Given the description of an element on the screen output the (x, y) to click on. 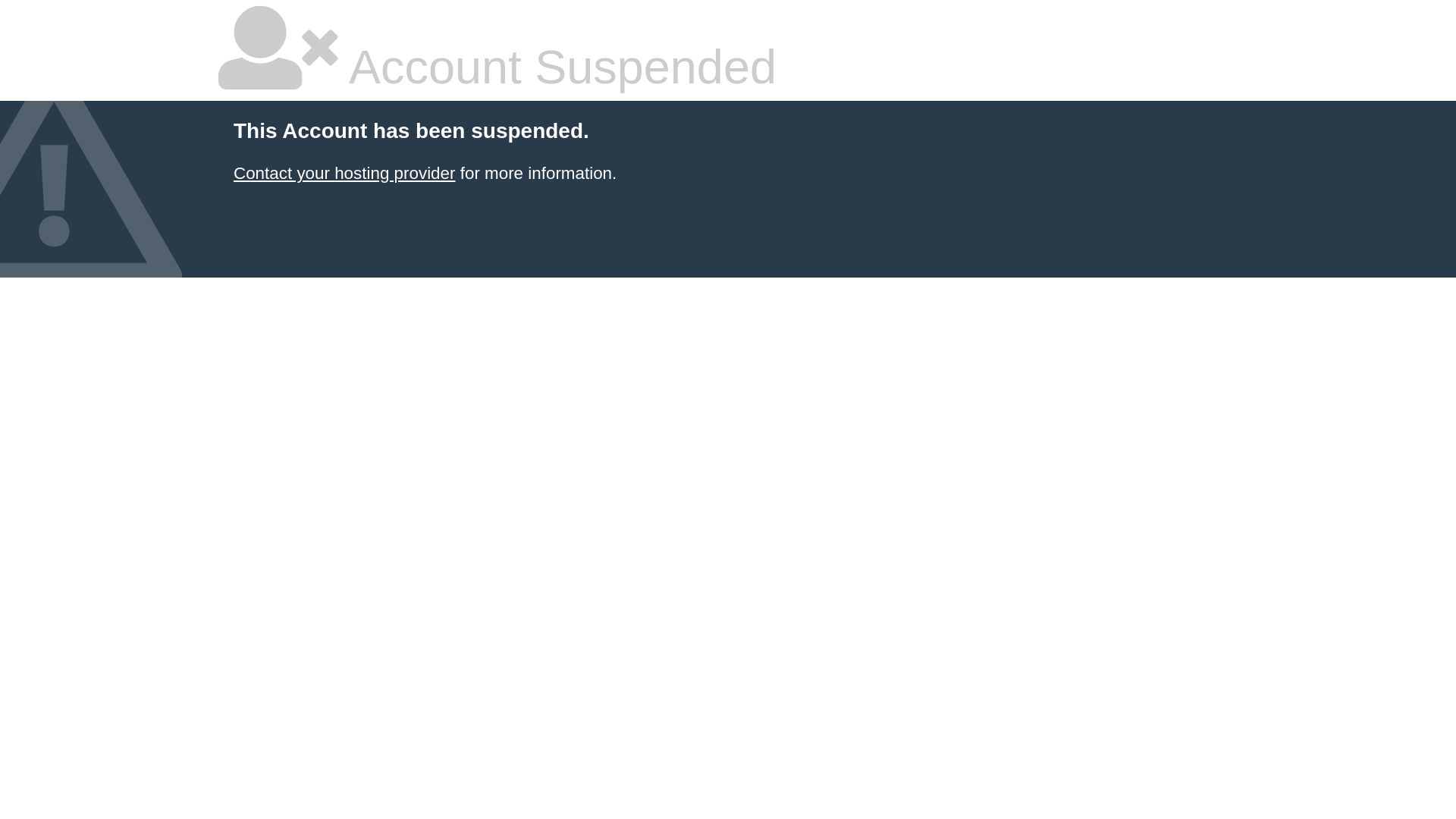
Contact your hosting provider Element type: text (344, 172)
